Given the description of an element on the screen output the (x, y) to click on. 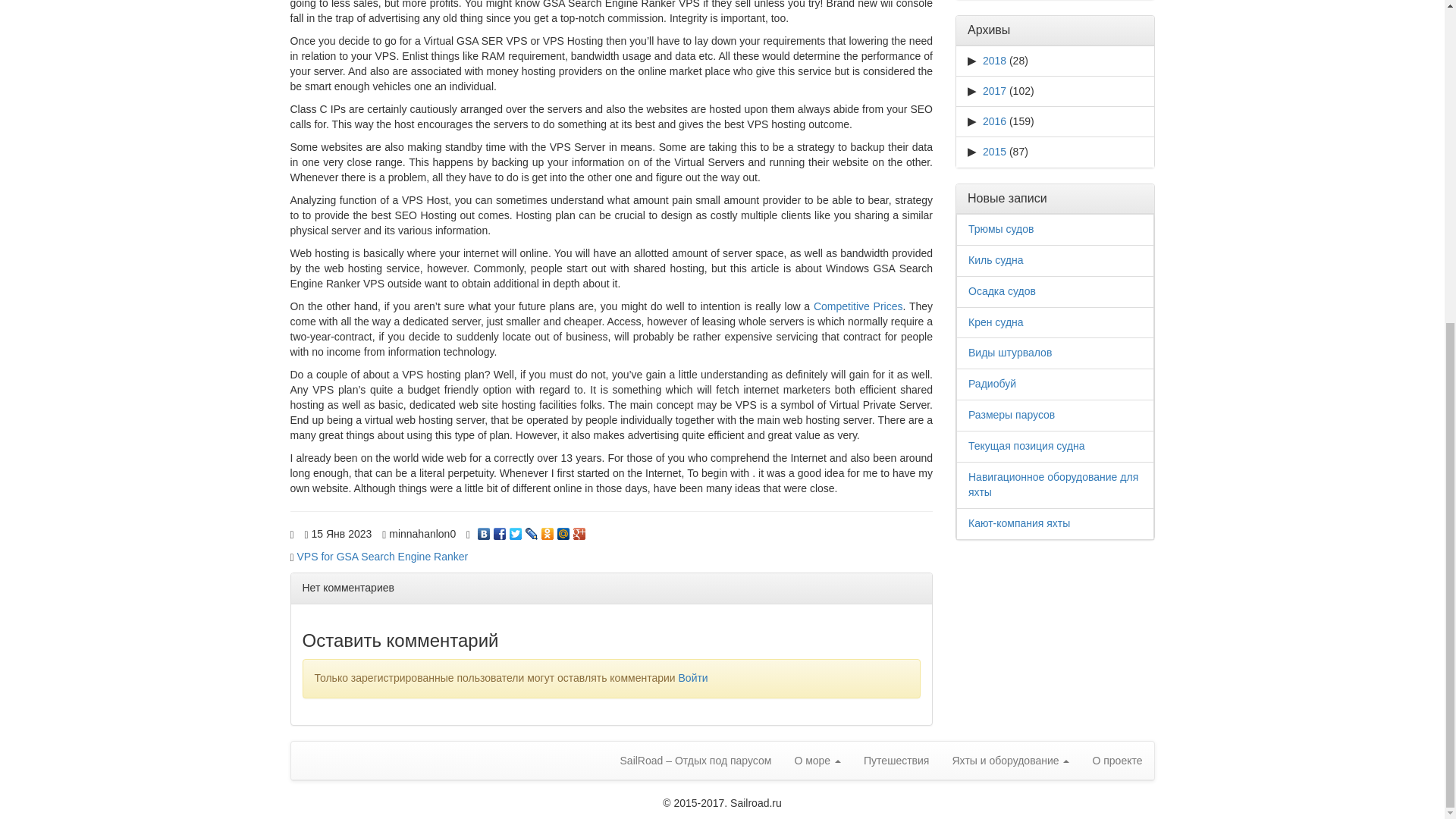
Facebook (500, 530)
Google Plus (580, 530)
LiveJournal (532, 530)
VPS for GSA Search Engine Ranker (382, 556)
Twitter (516, 530)
